Given the description of an element on the screen output the (x, y) to click on. 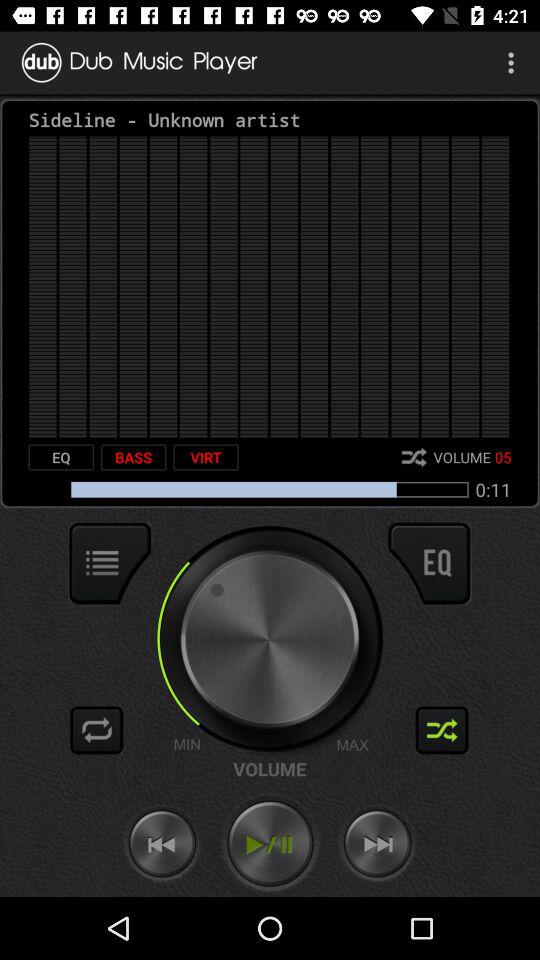
play or pause option (269, 844)
